Given the description of an element on the screen output the (x, y) to click on. 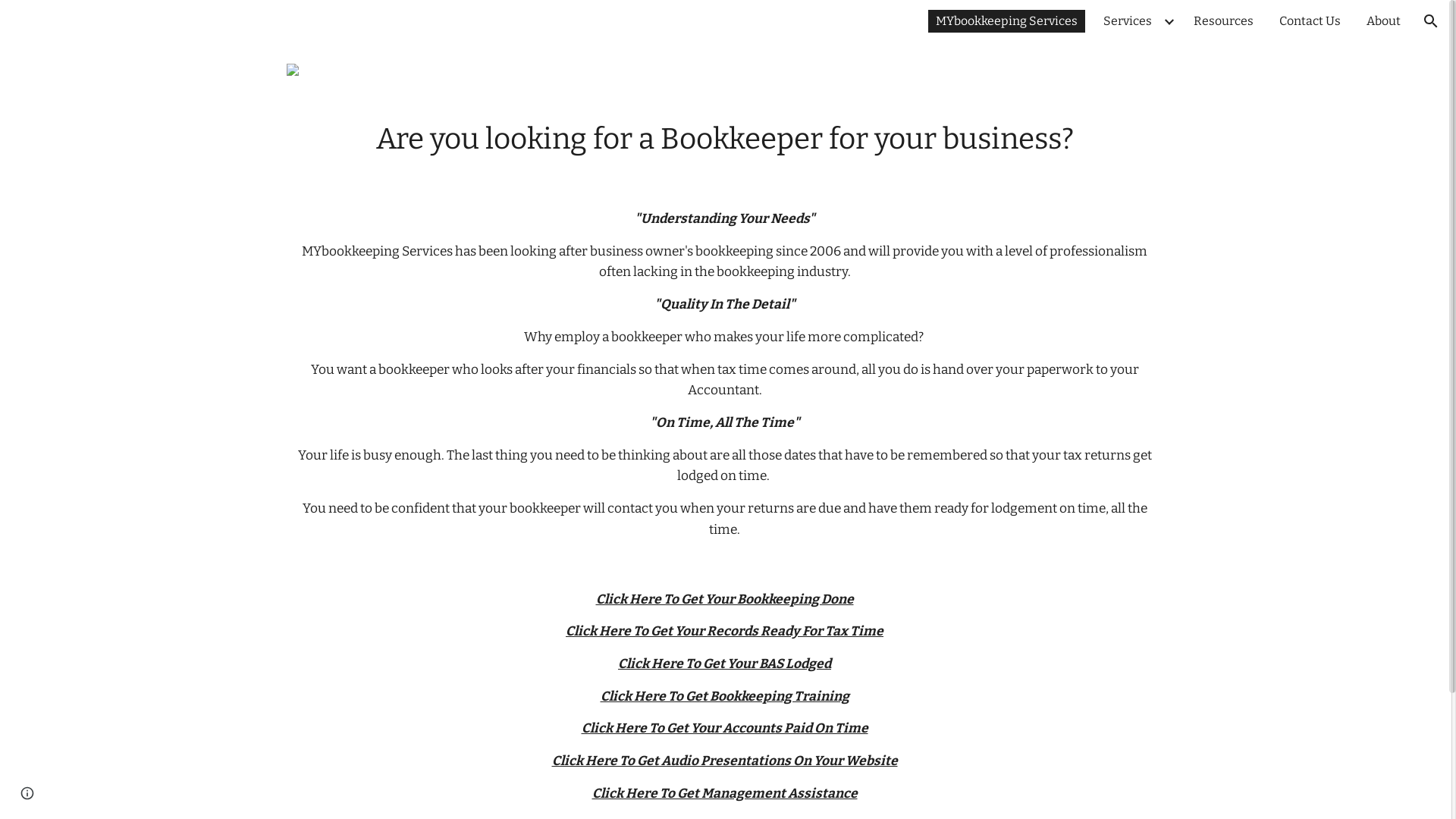
Services Element type: text (1127, 20)
Expand/Collapse Element type: hover (1168, 20)
Click Here To Get Your Bookkeeping Done Element type: text (724, 599)
Click Here To Get Your Records Ready For Tax Time Element type: text (724, 631)
Click Here To Get Bookkeeping Training Element type: text (724, 696)
MYbookkeeping Services Element type: text (1006, 20)
Contact Us Element type: text (1309, 20)
Click Here To Get Management Assistance Element type: text (723, 793)
Click Here To Get Audio Presentations On Your Website Element type: text (724, 760)
About Element type: text (1383, 20)
Click Here To Get Your Accounts Paid On Time Element type: text (723, 728)
Resources Element type: text (1223, 20)
Click Here To Get Your BAS Lodged Element type: text (724, 663)
